Given the description of an element on the screen output the (x, y) to click on. 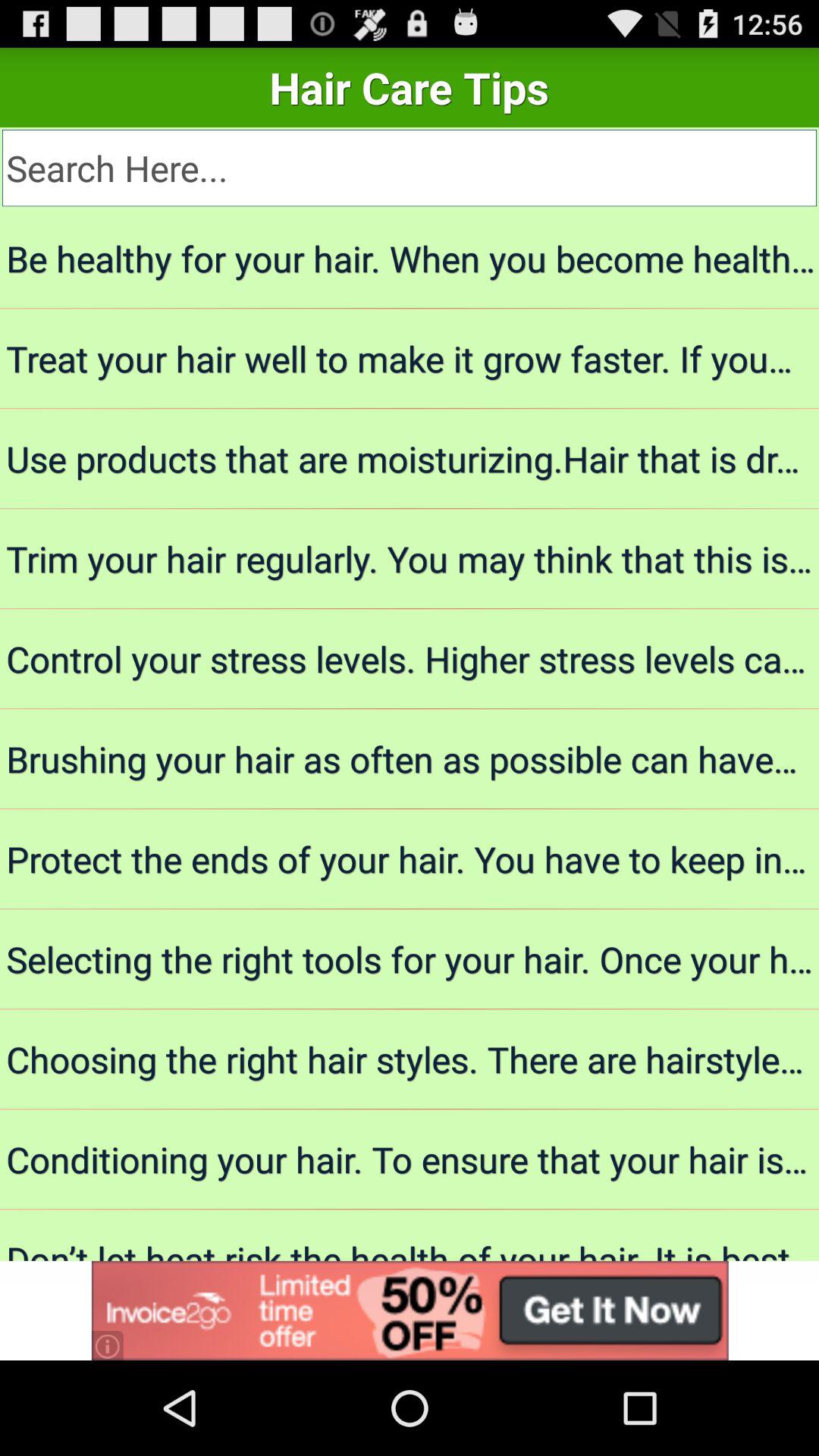
search tips (409, 167)
